Given the description of an element on the screen output the (x, y) to click on. 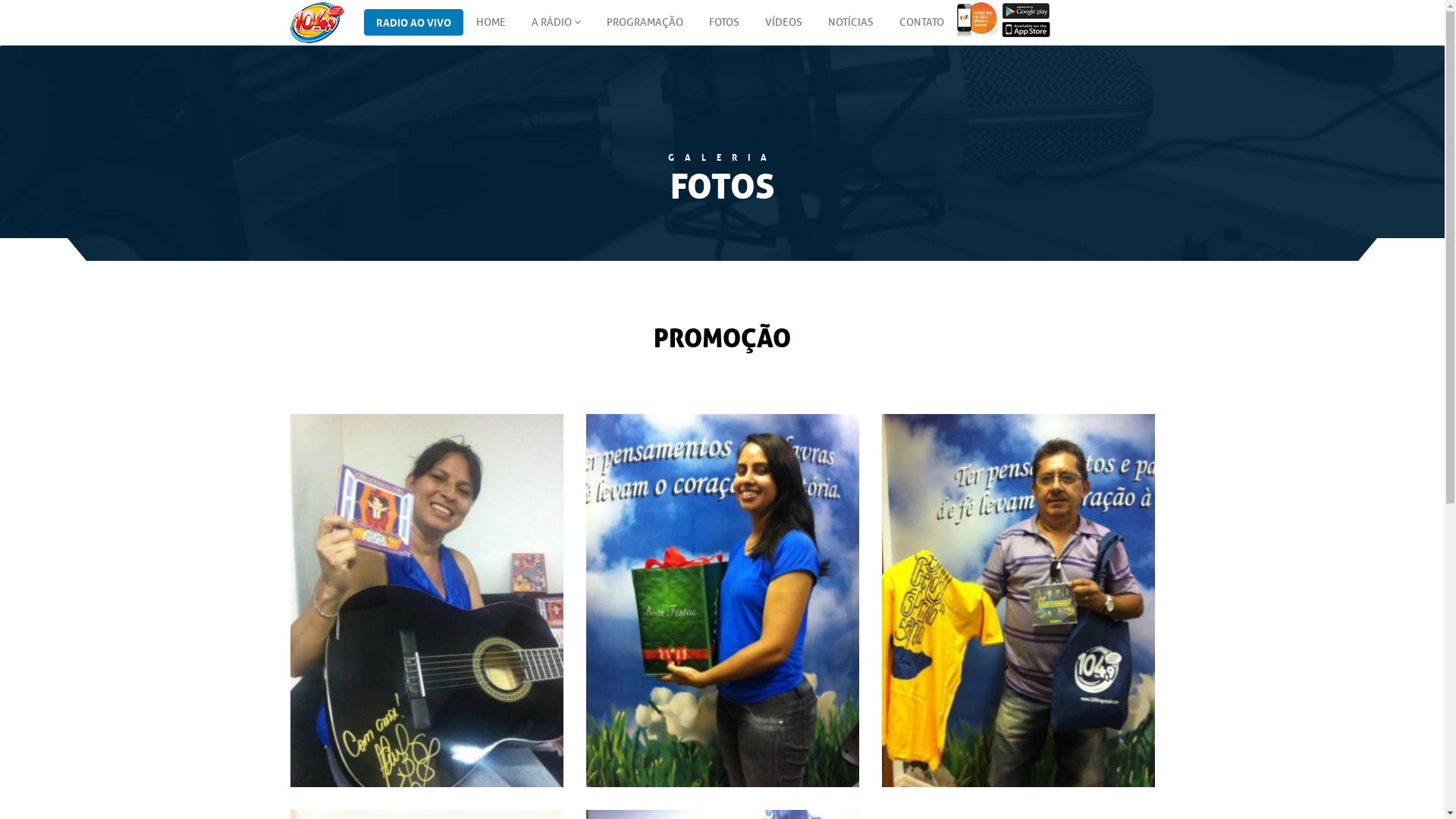
RADIO AO VIVO Element type: text (413, 22)
HOME Element type: text (489, 22)
CONTATO Element type: text (920, 22)
FOTOS Element type: text (724, 22)
